Given the description of an element on the screen output the (x, y) to click on. 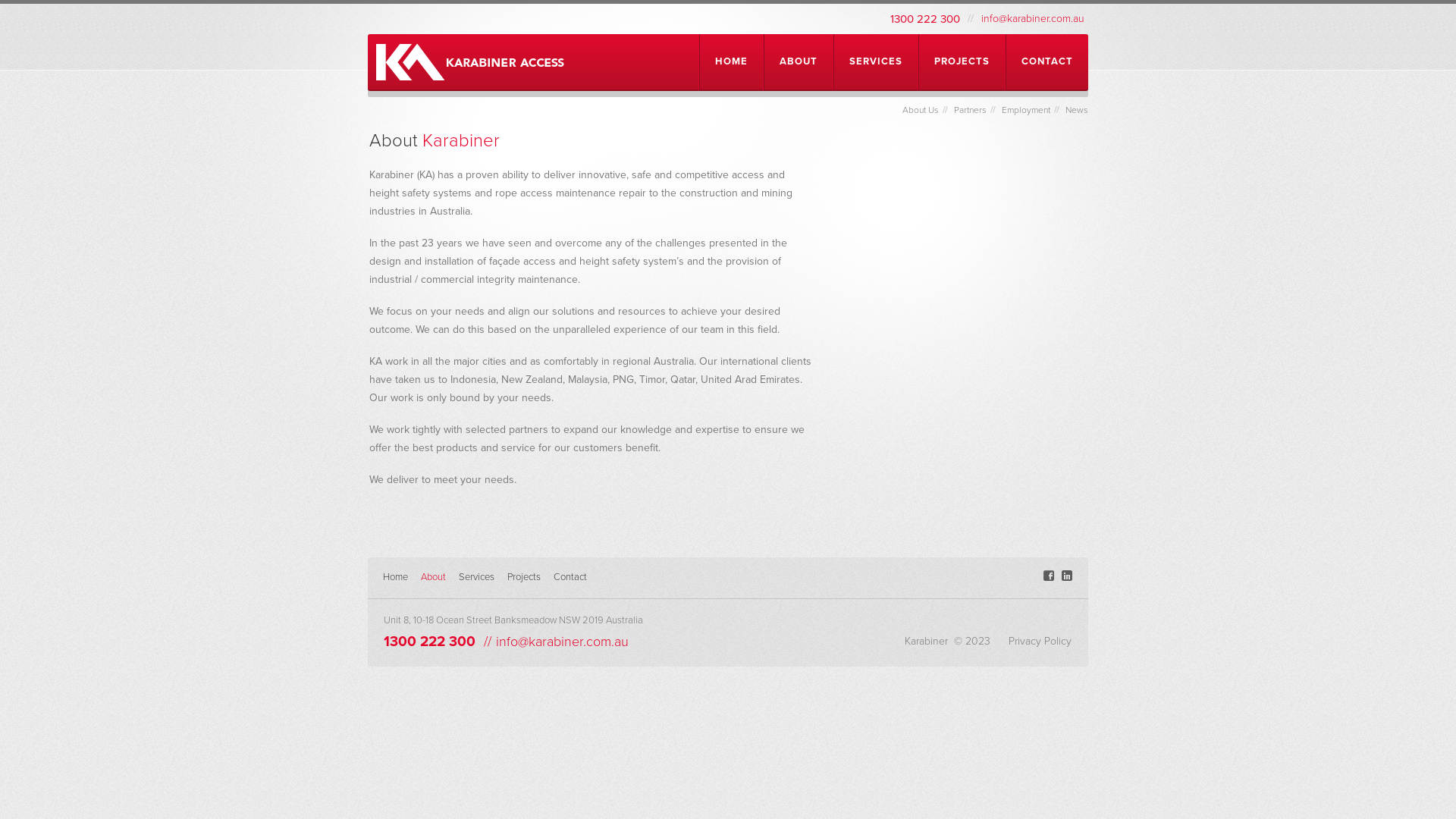
ABOUT Element type: text (798, 62)
Services Element type: text (476, 577)
Partners Element type: text (969, 109)
Employment Element type: text (1025, 109)
News Element type: text (1076, 109)
About Us Element type: text (920, 109)
Contact Element type: text (569, 577)
CONTACT Element type: text (1047, 62)
PROJECTS Element type: text (961, 62)
Home Element type: text (394, 577)
Linked In Element type: hover (1066, 575)
Projects Element type: text (523, 577)
Facebook Element type: hover (1048, 575)
SERVICES Element type: text (875, 62)
About Element type: text (432, 577)
Karabiner Access Element type: text (469, 62)
info@karabiner.com.au Element type: text (1032, 18)
HOME Element type: text (730, 62)
info@karabiner.com.au Element type: text (561, 641)
Privacy Policy Element type: text (1039, 640)
